Given the description of an element on the screen output the (x, y) to click on. 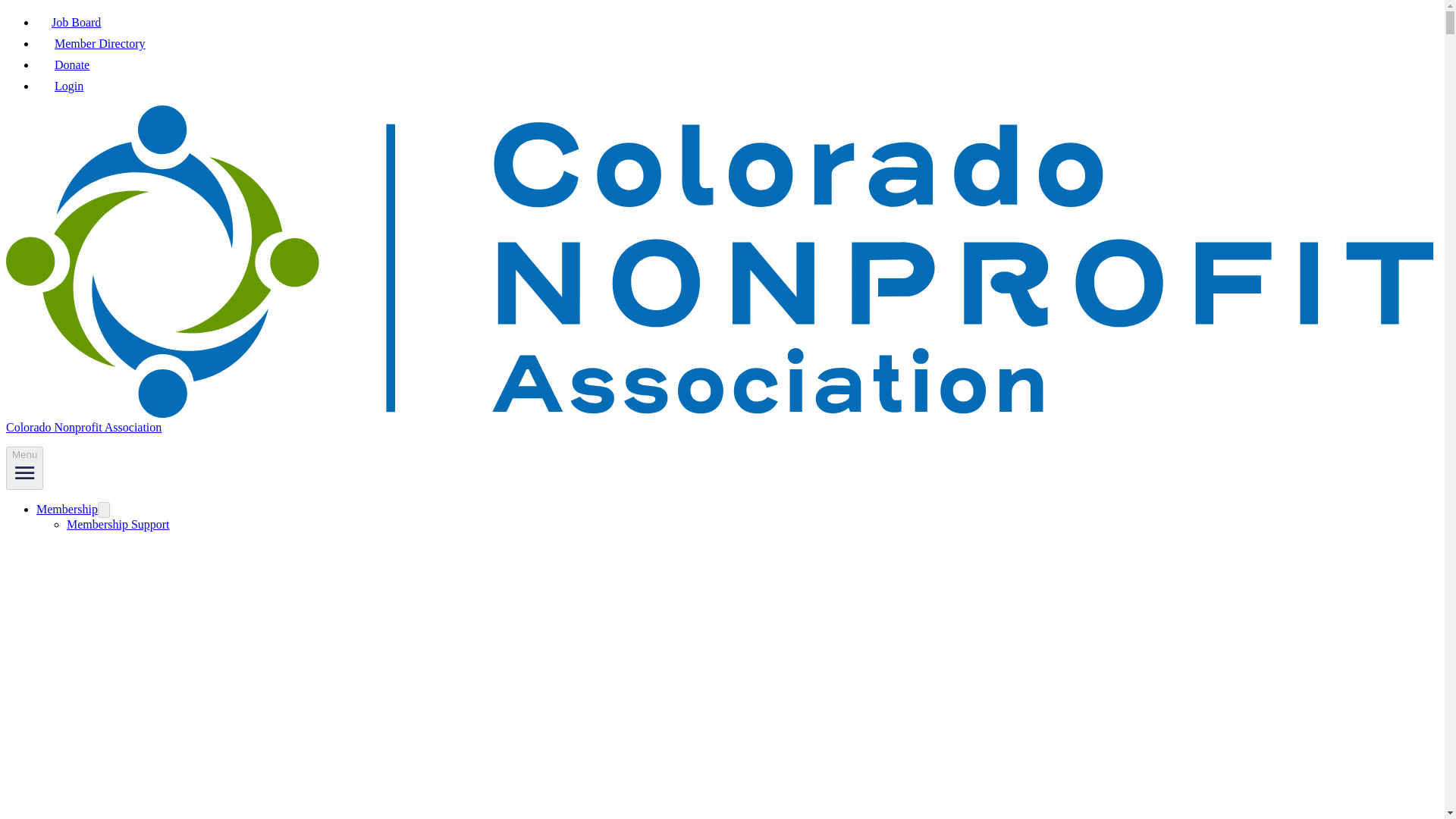
Member Directory (90, 42)
Membership (66, 508)
Login (59, 85)
Job Board (68, 21)
Donate (62, 64)
